Given the description of an element on the screen output the (x, y) to click on. 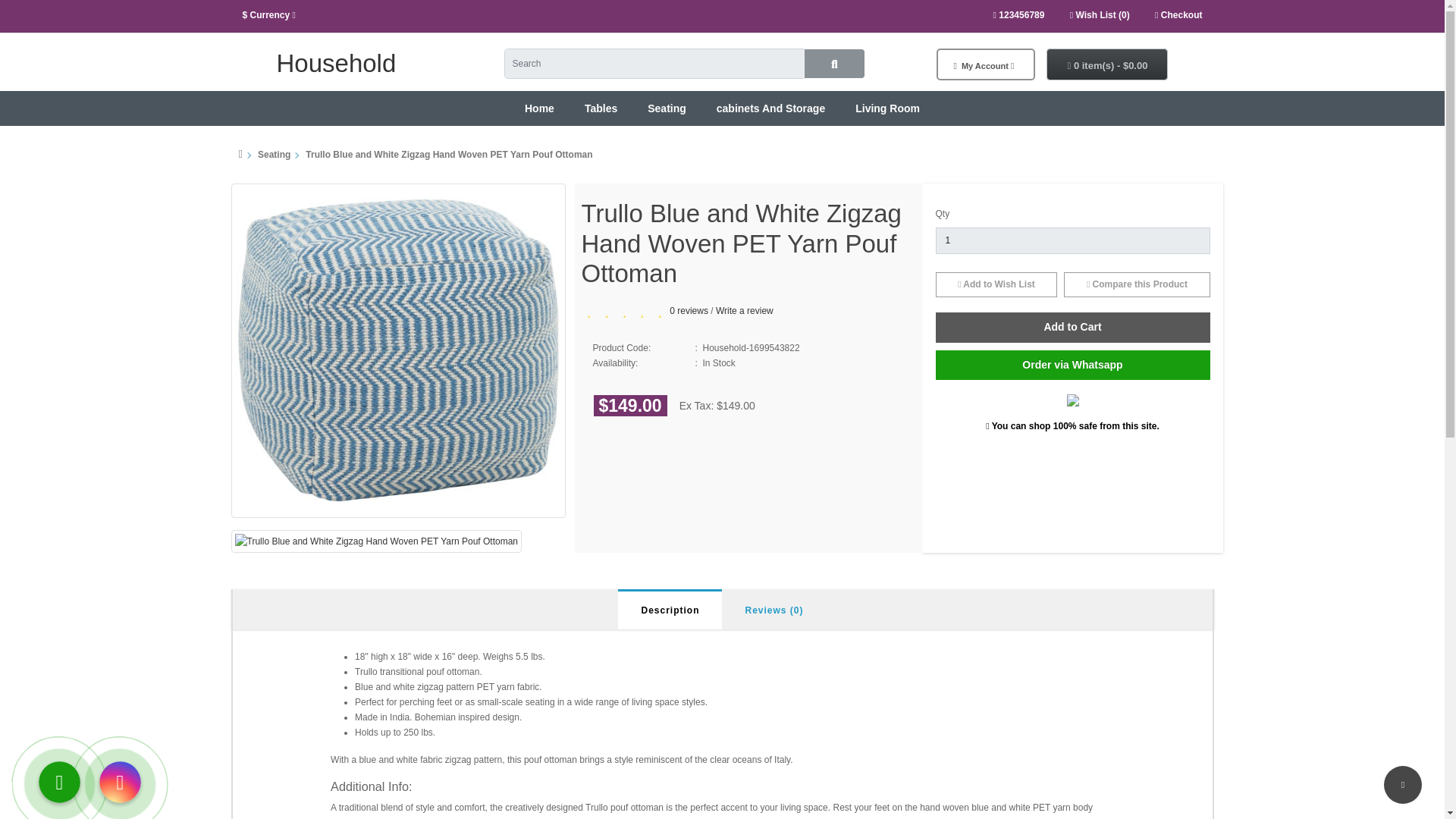
Compare this Product (1136, 284)
cabinets And Storage (770, 108)
Write a review (744, 310)
Home (539, 108)
Living Room (887, 108)
Add to Wish List (997, 284)
Checkout (1178, 14)
